Given the description of an element on the screen output the (x, y) to click on. 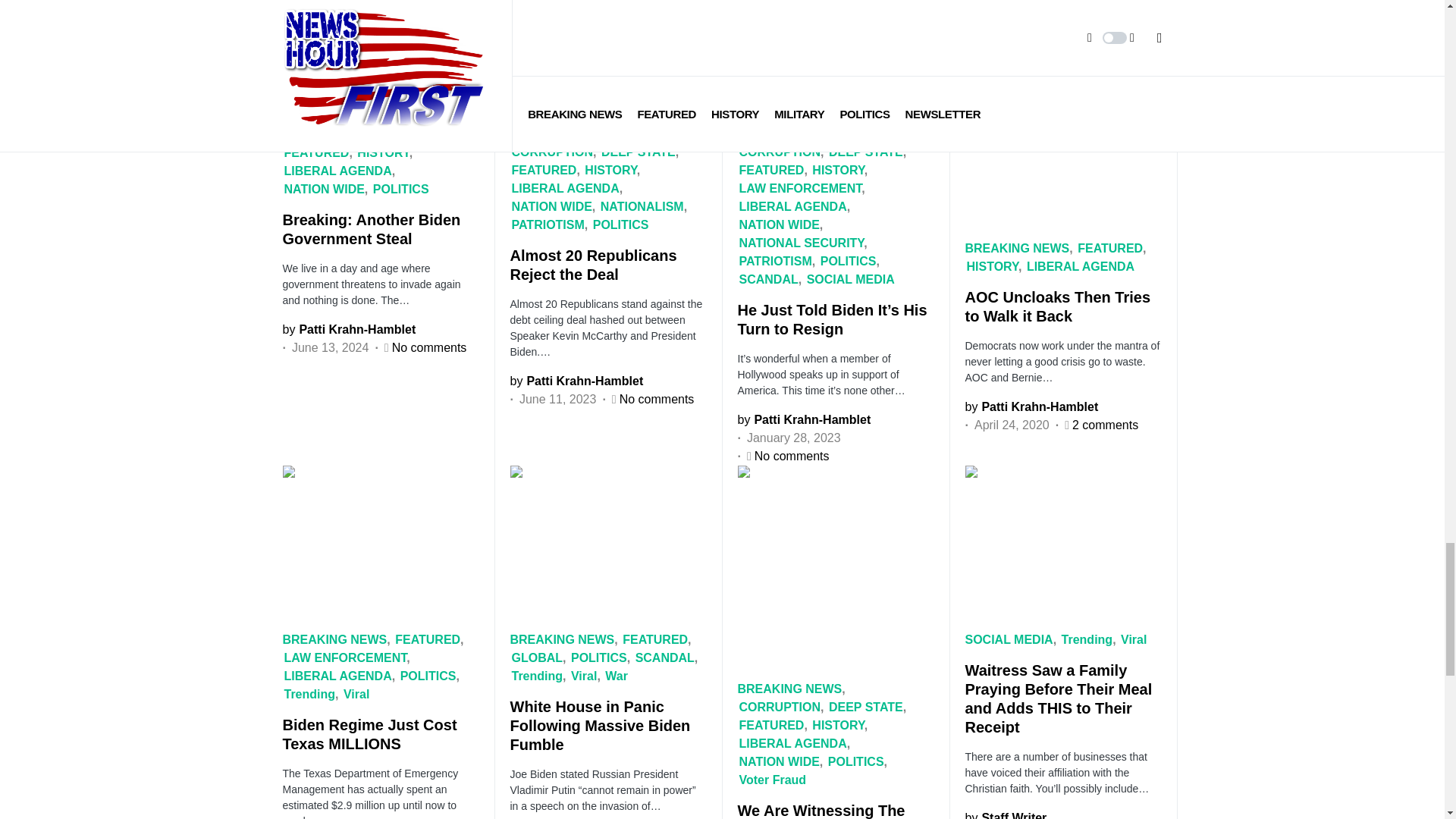
View all posts by Patti Krahn-Hamblet (348, 330)
View all posts by Patti Krahn-Hamblet (1030, 407)
View all posts by Patti Krahn-Hamblet (576, 381)
View all posts by Patti Krahn-Hamblet (803, 420)
